Given the description of an element on the screen output the (x, y) to click on. 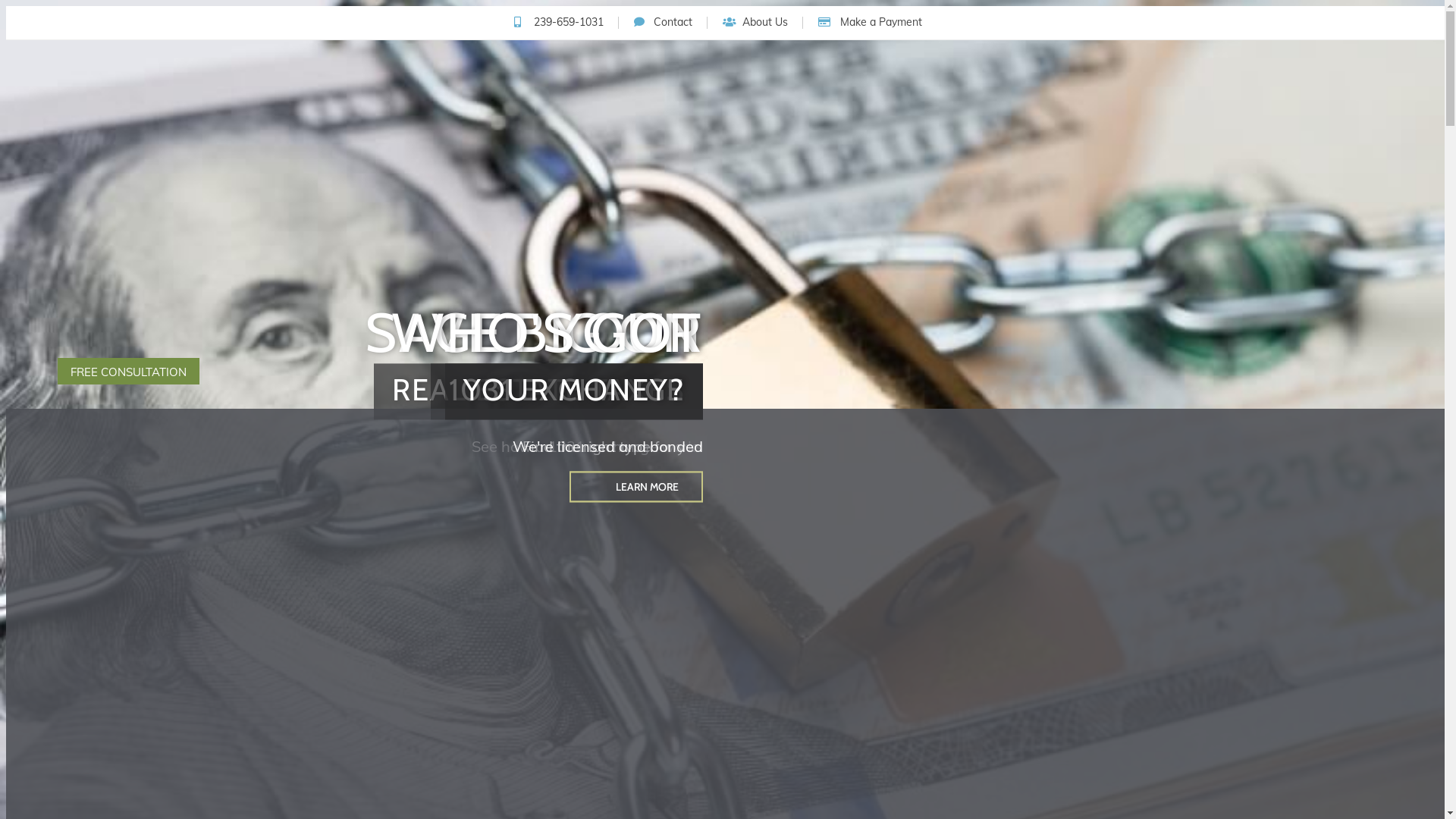
How Exchanges Work Element type: text (465, 195)
FAQs Element type: text (71, 261)
View Our Crime and Fidelity Bond Insurance Certificate Element type: text (581, 326)
Exchange Examples Element type: text (475, 205)
Blog Element type: text (69, 351)
1031 Exchange for FIRPTA Element type: text (753, 195)
View Our Professional Liability Insurance Certificate Element type: text (273, 326)
Benefits of a 1031 Exchange Element type: text (304, 195)
LEARN MORE Element type: text (635, 486)
What is a 1031 Exchange? Element type: text (131, 195)
About Us Element type: text (754, 22)
Contact Element type: text (662, 22)
Make a Payment Element type: text (869, 22)
About Element type: text (73, 301)
1031 Exchange Element type: text (98, 170)
FREE CONSULTATION Element type: text (128, 370)
About Us Element type: text (85, 326)
Why Choose Us? Element type: text (102, 281)
Start an Exchange Element type: text (105, 240)
239-659-1031 Element type: text (557, 22)
Types of Exchanges Element type: text (603, 195)
